Given the description of an element on the screen output the (x, y) to click on. 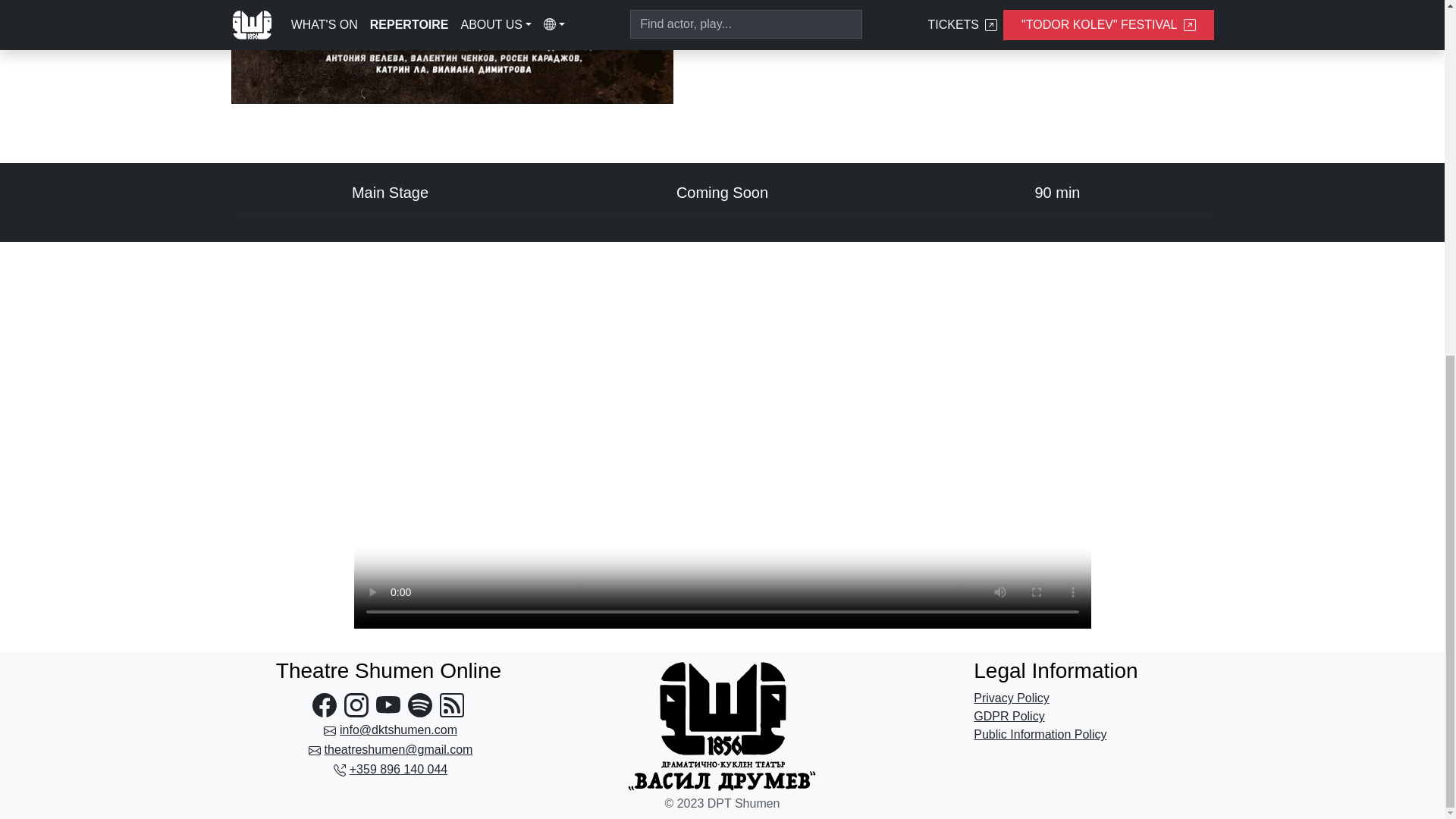
READ MORE (777, 25)
Public Information Policy (1040, 734)
Privacy Policy (1011, 697)
GDPR Policy (1008, 716)
